Given the description of an element on the screen output the (x, y) to click on. 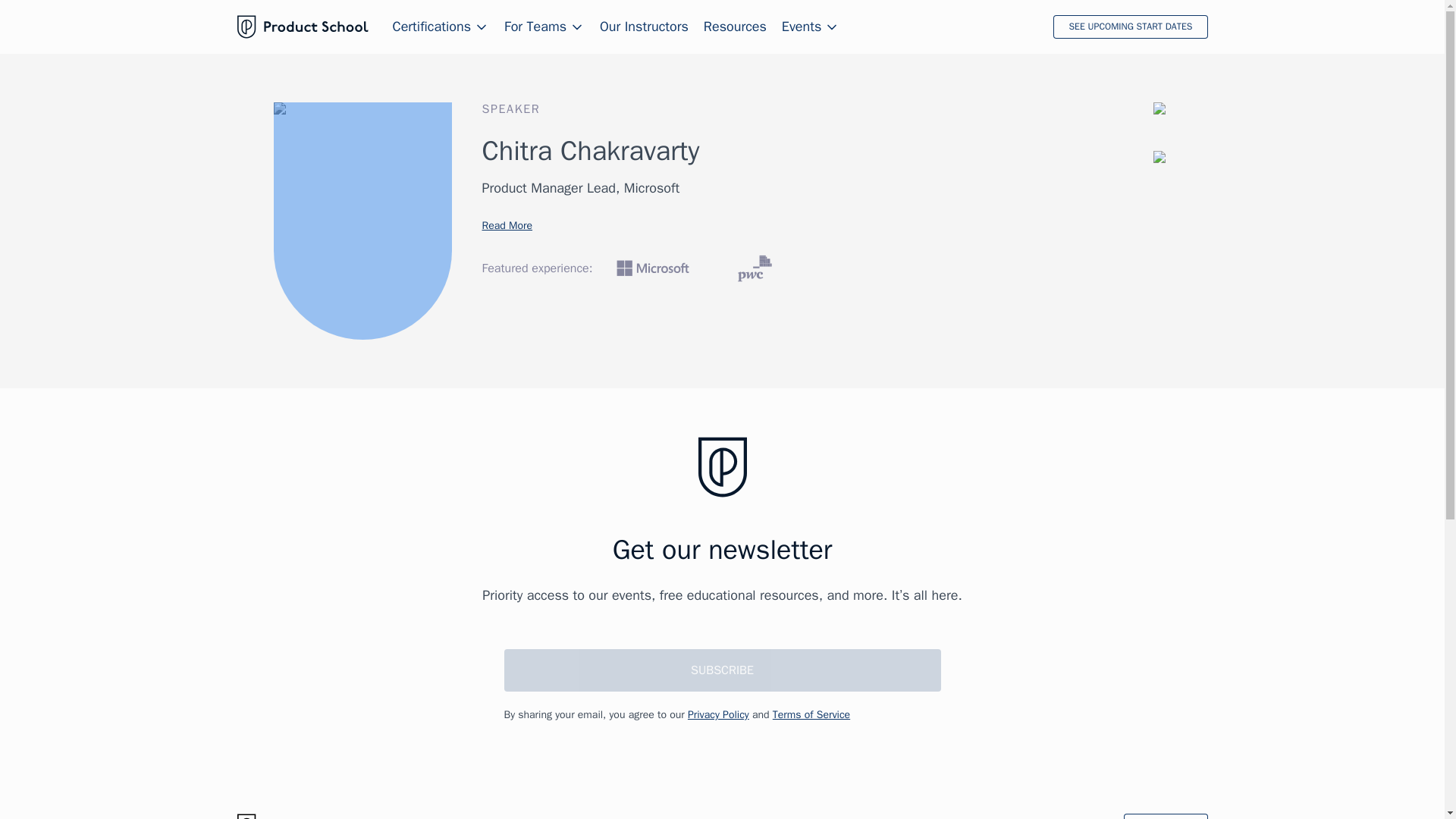
Read More (506, 224)
Read More (506, 224)
Resources (735, 27)
For Teams (544, 27)
 See Upcoming Start Dates (1129, 26)
Contact Us (1165, 816)
CONTACT US (1165, 816)
Events (810, 27)
SEE UPCOMING START DATES (1129, 26)
Terms of Service (811, 714)
Our Instructors (643, 27)
Privacy Policy (718, 714)
Certifications (441, 27)
Privacy Policy (718, 714)
Terms of Service (811, 714)
